Given the description of an element on the screen output the (x, y) to click on. 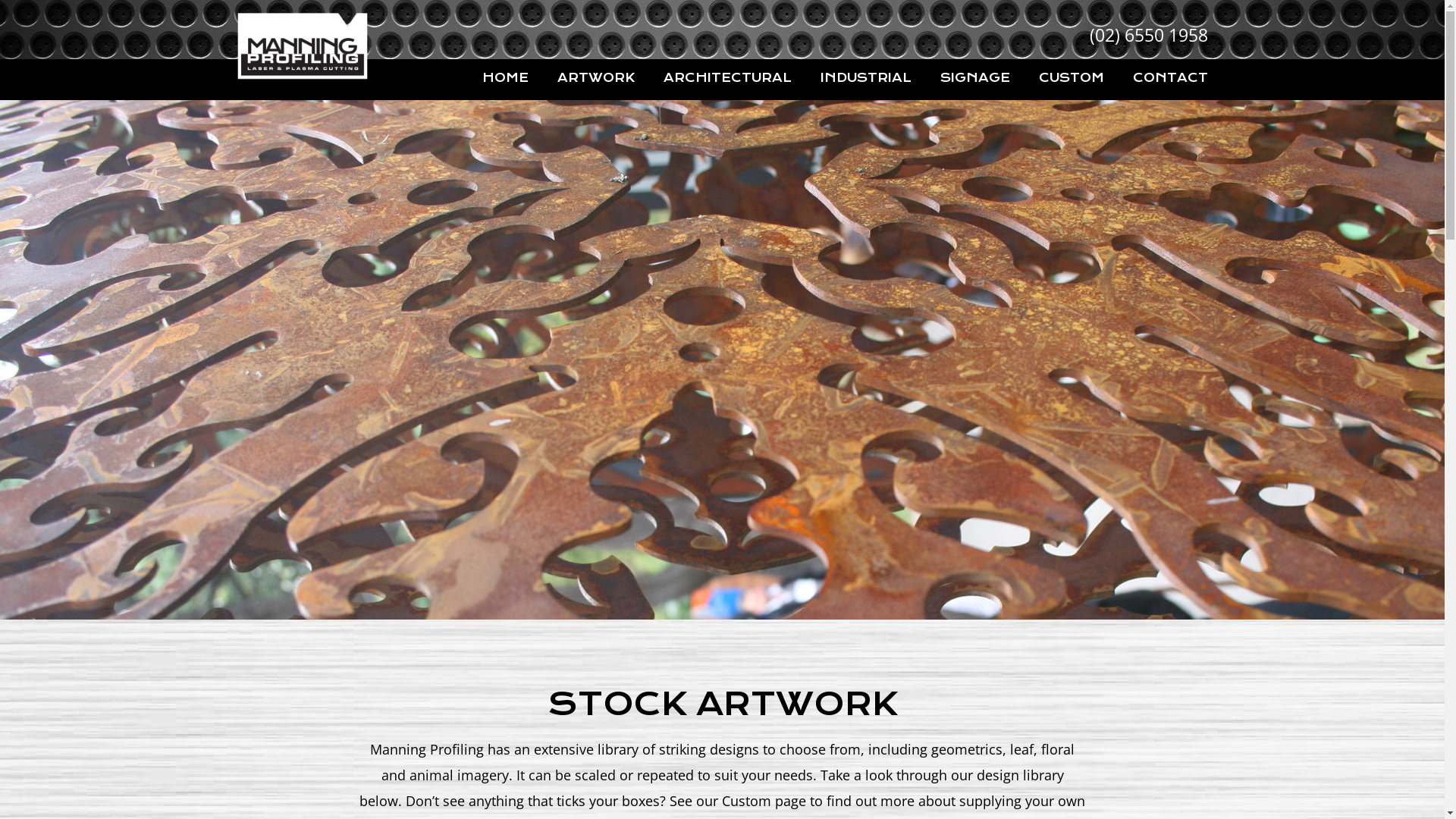
CONTACT Element type: text (1170, 77)
ARCHITECTURAL Element type: text (726, 77)
ARTWORK Element type: text (595, 77)
HOME Element type: text (505, 77)
CUSTOM Element type: text (1071, 77)
Manning Profiling: Laser & Plasma Cutting Element type: hover (301, 46)
SIGNAGE Element type: text (974, 77)
(02) 6550 1958 Element type: text (1147, 34)
INDUSTRIAL Element type: text (865, 77)
